Given the description of an element on the screen output the (x, y) to click on. 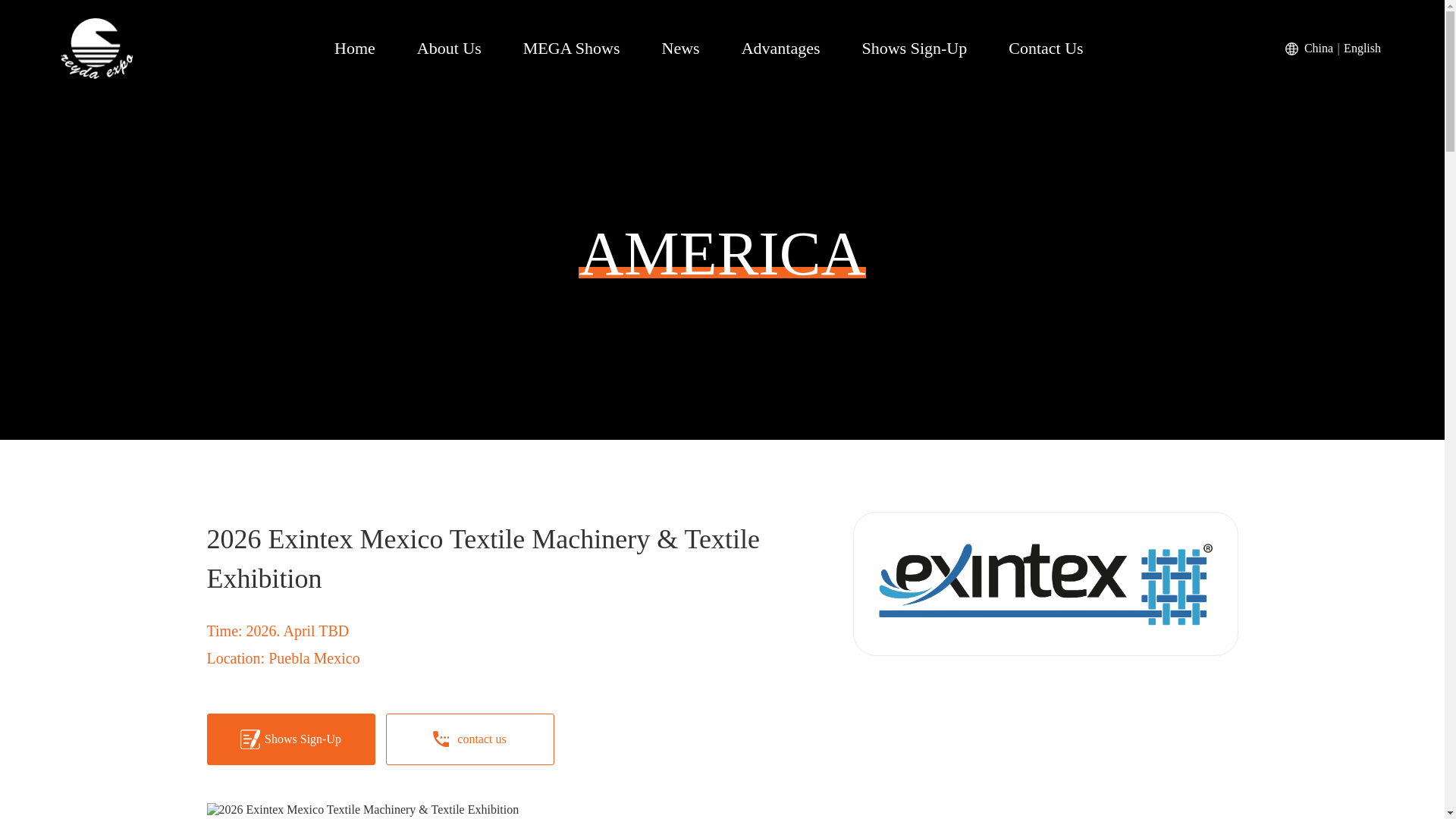
MEGA Shows (571, 48)
Advantages (781, 48)
Contact Us (1046, 48)
Shows Sign-Up (913, 48)
English (1361, 47)
About Us (448, 48)
China (1318, 47)
